Given the description of an element on the screen output the (x, y) to click on. 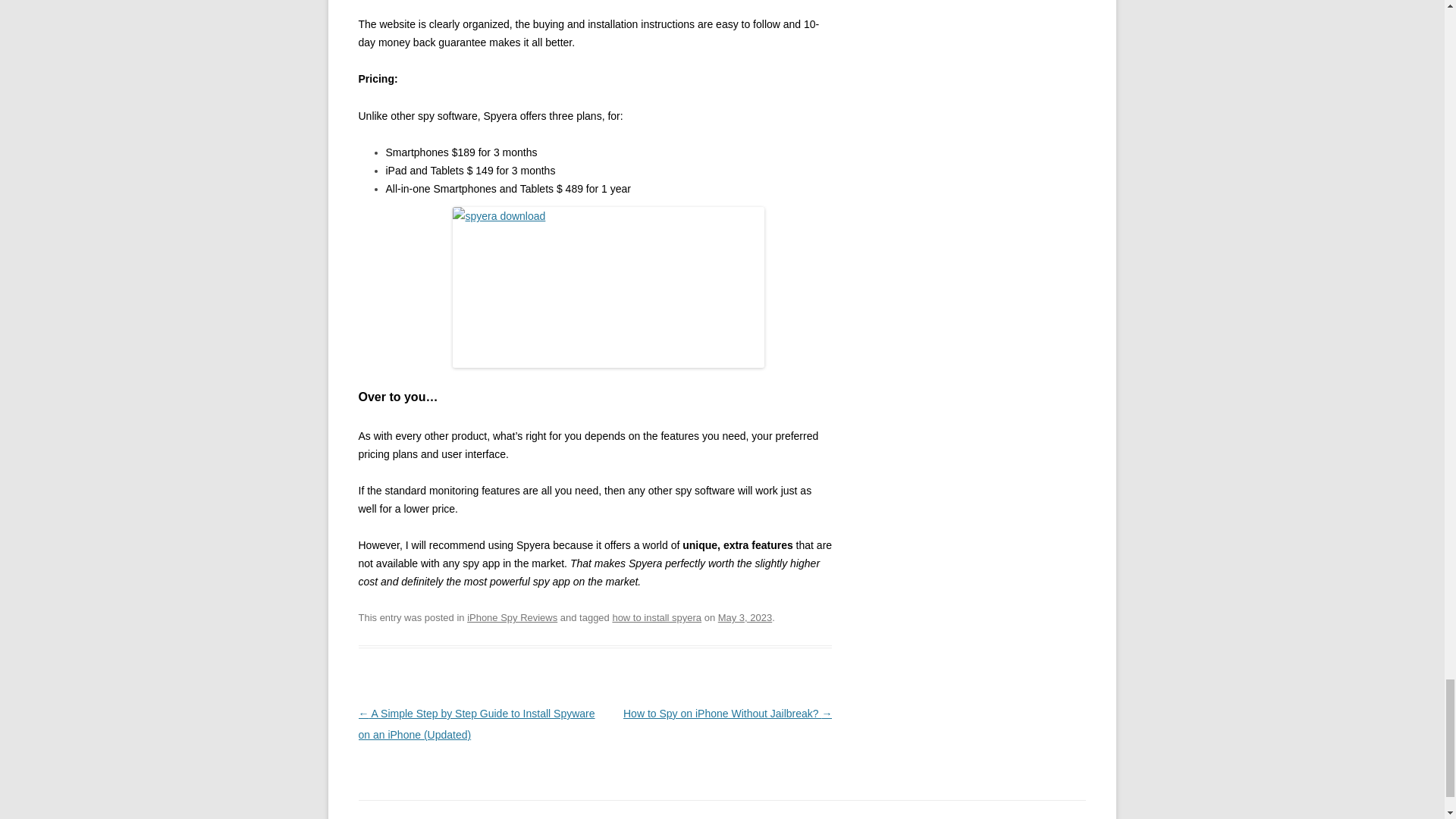
spyera website (608, 299)
iPhone Spy Reviews (512, 617)
May 3, 2023 (744, 617)
11:19 am (744, 617)
how to install spyera (656, 617)
